Given the description of an element on the screen output the (x, y) to click on. 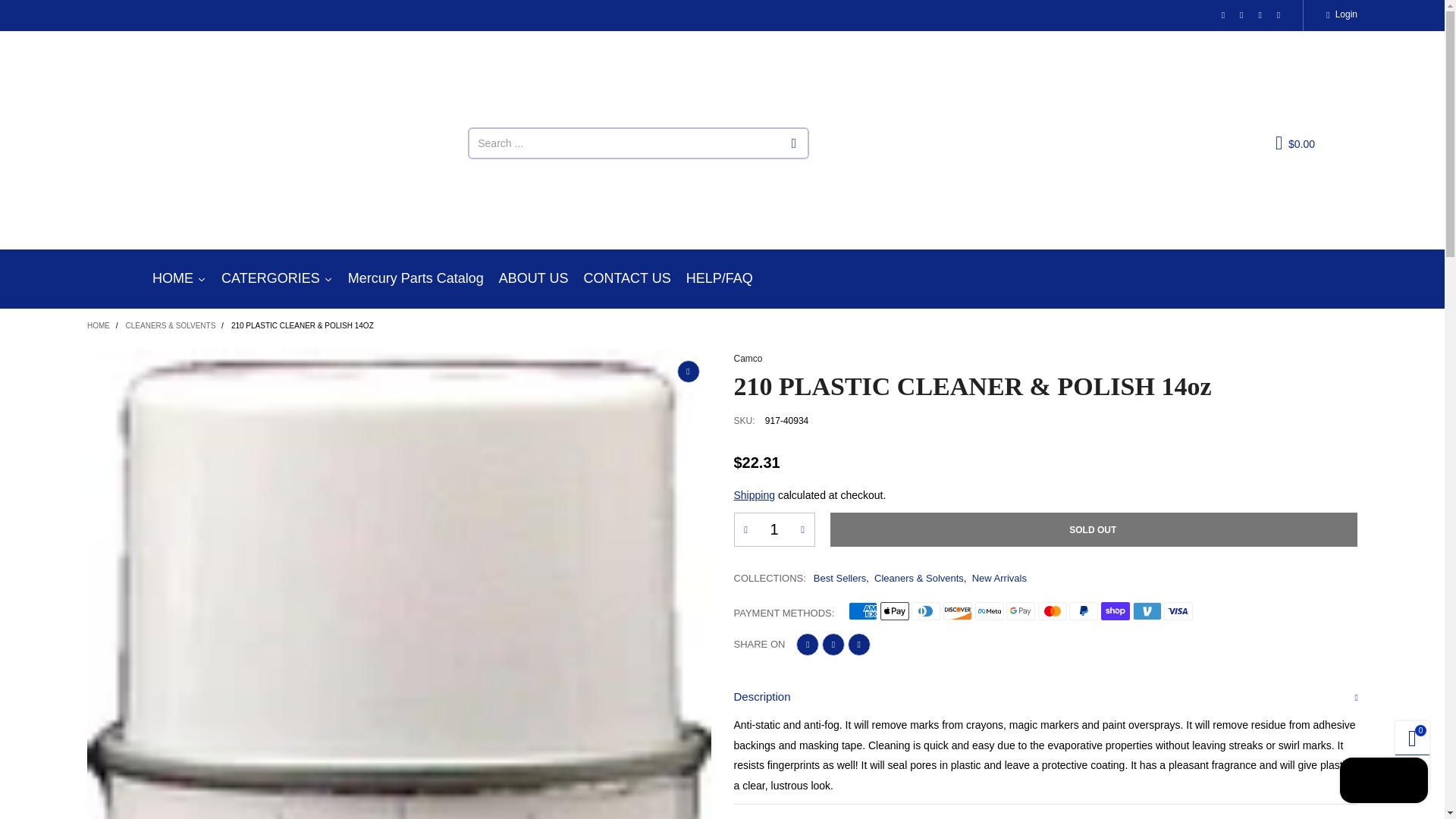
1 (773, 529)
ABOUT US (534, 279)
Visa (1177, 610)
Login (1341, 14)
Mercury Parts Catalog (416, 279)
CATERGORIES (277, 279)
Instagram (1259, 14)
Meta Pay (989, 610)
Mercury Parts Catalog (416, 279)
Submit (794, 142)
